Given the description of an element on the screen output the (x, y) to click on. 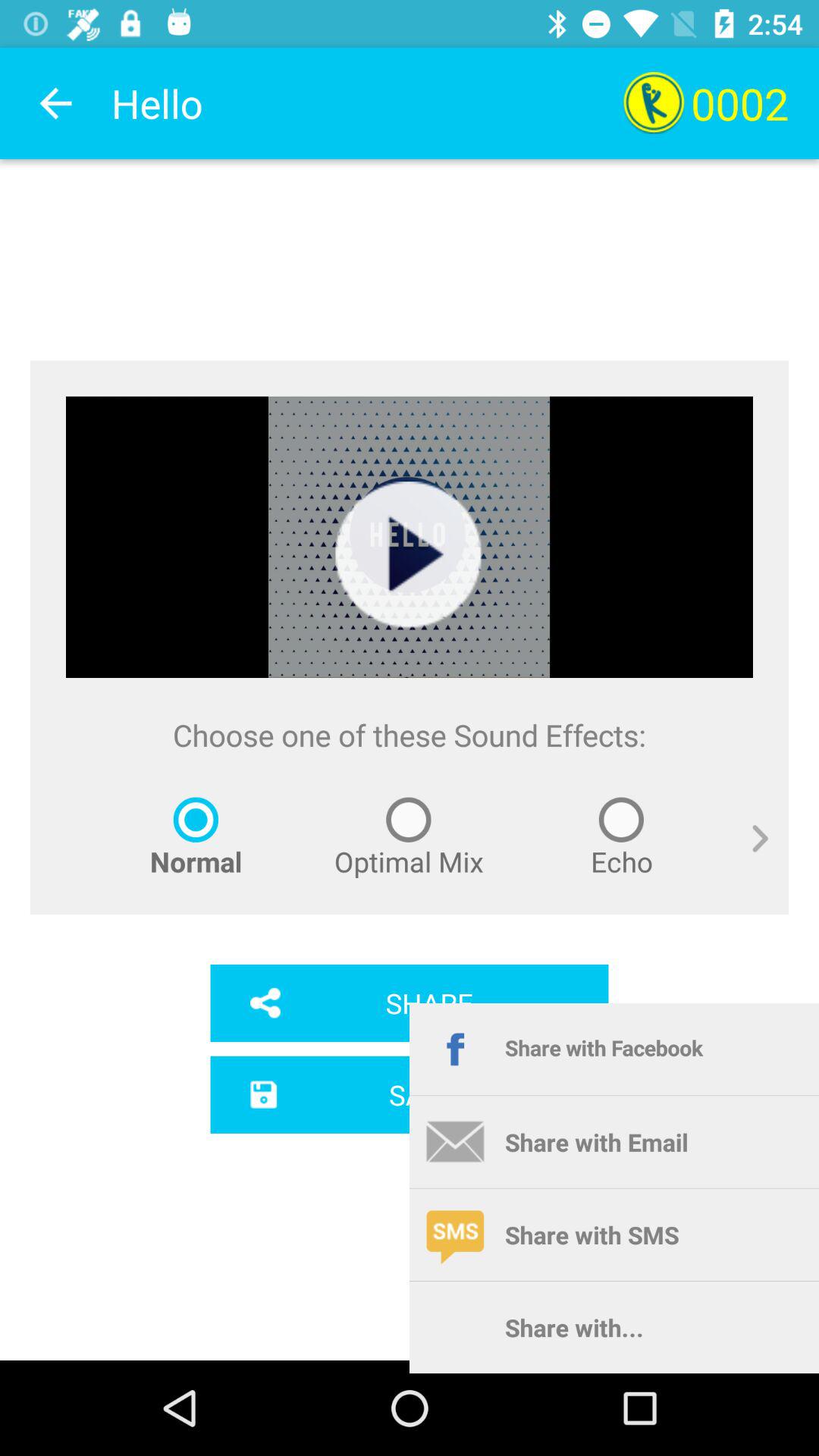
click item to the right of the stage icon (748, 855)
